Given the description of an element on the screen output the (x, y) to click on. 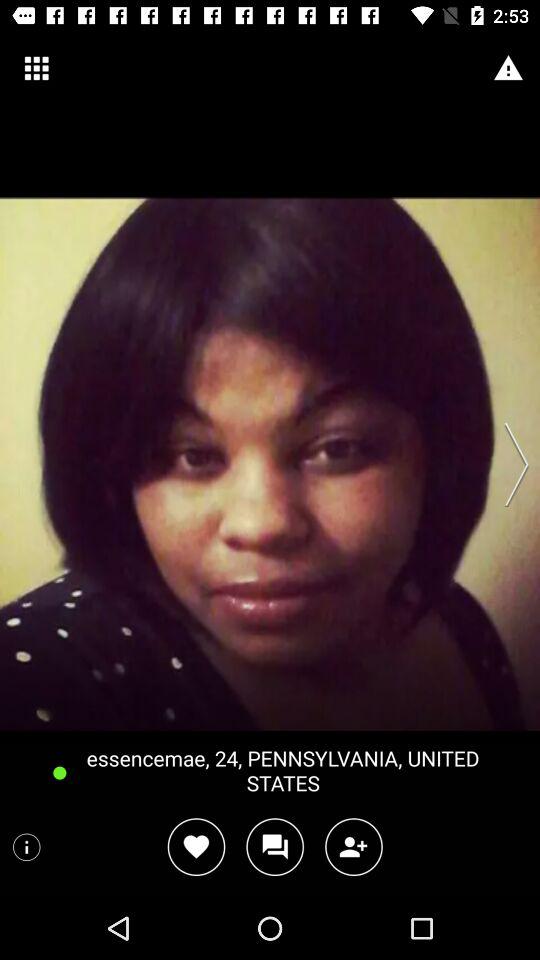
click add person symbol (353, 846)
